Given the description of an element on the screen output the (x, y) to click on. 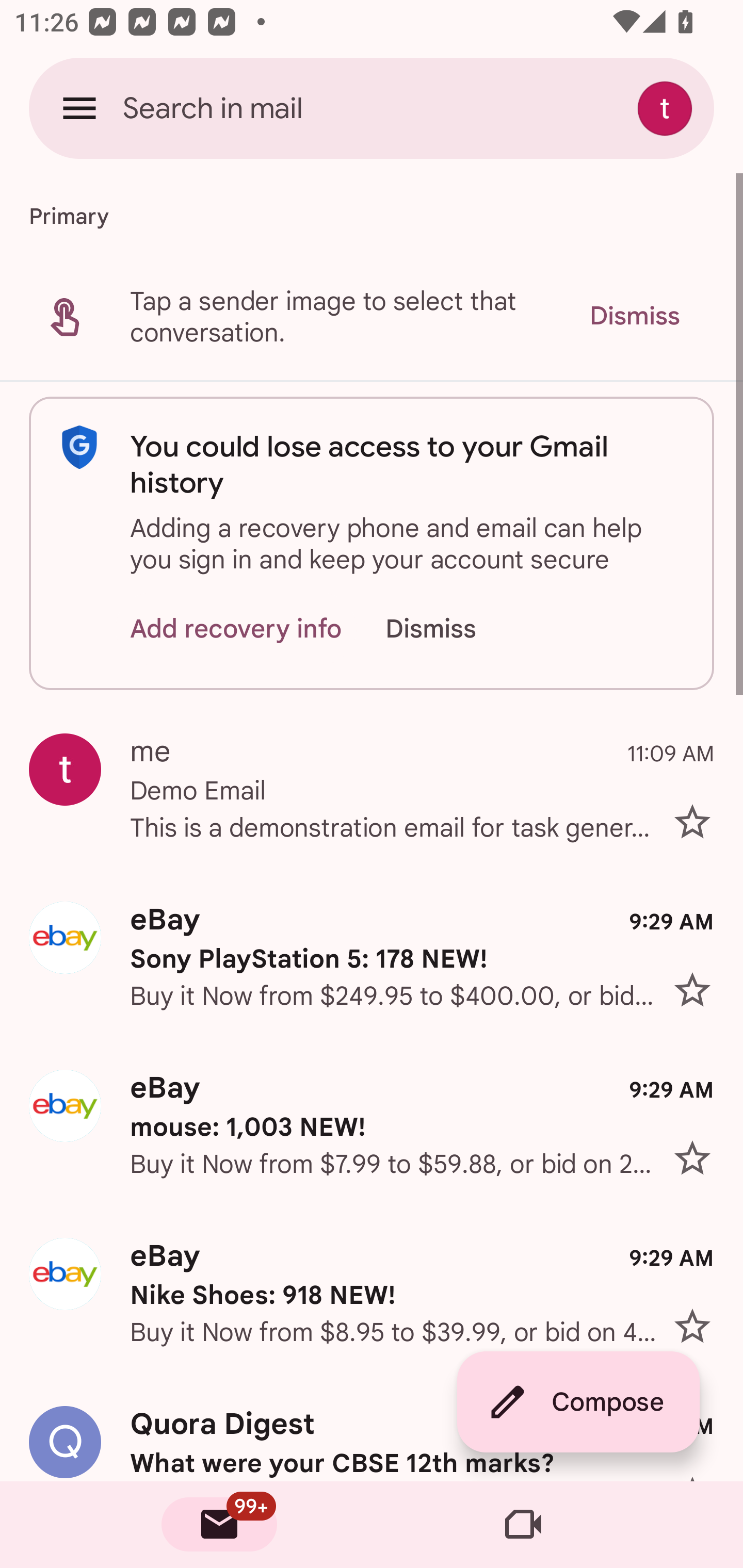
Open navigation drawer (79, 108)
Dismiss Dismiss tip (634, 315)
Add recovery info (235, 628)
Dismiss (449, 628)
Compose (577, 1401)
Meet (523, 1524)
